Given the description of an element on the screen output the (x, y) to click on. 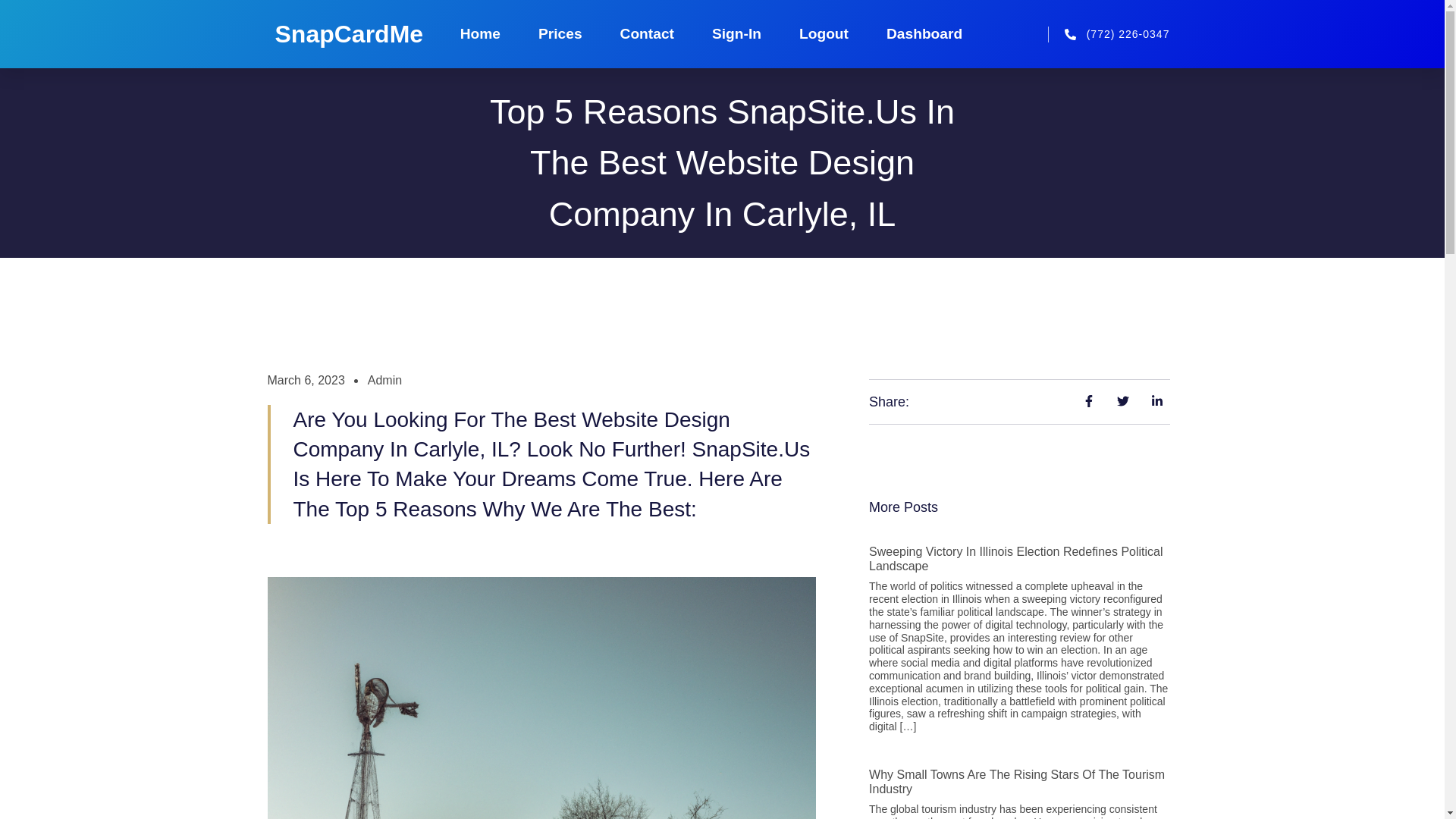
Dashboard (924, 33)
Admin (384, 380)
March 6, 2023 (304, 380)
SnapCardMe (349, 33)
Why Small Towns Are The Rising Stars Of The Tourism Industry (1016, 781)
